Given the description of an element on the screen output the (x, y) to click on. 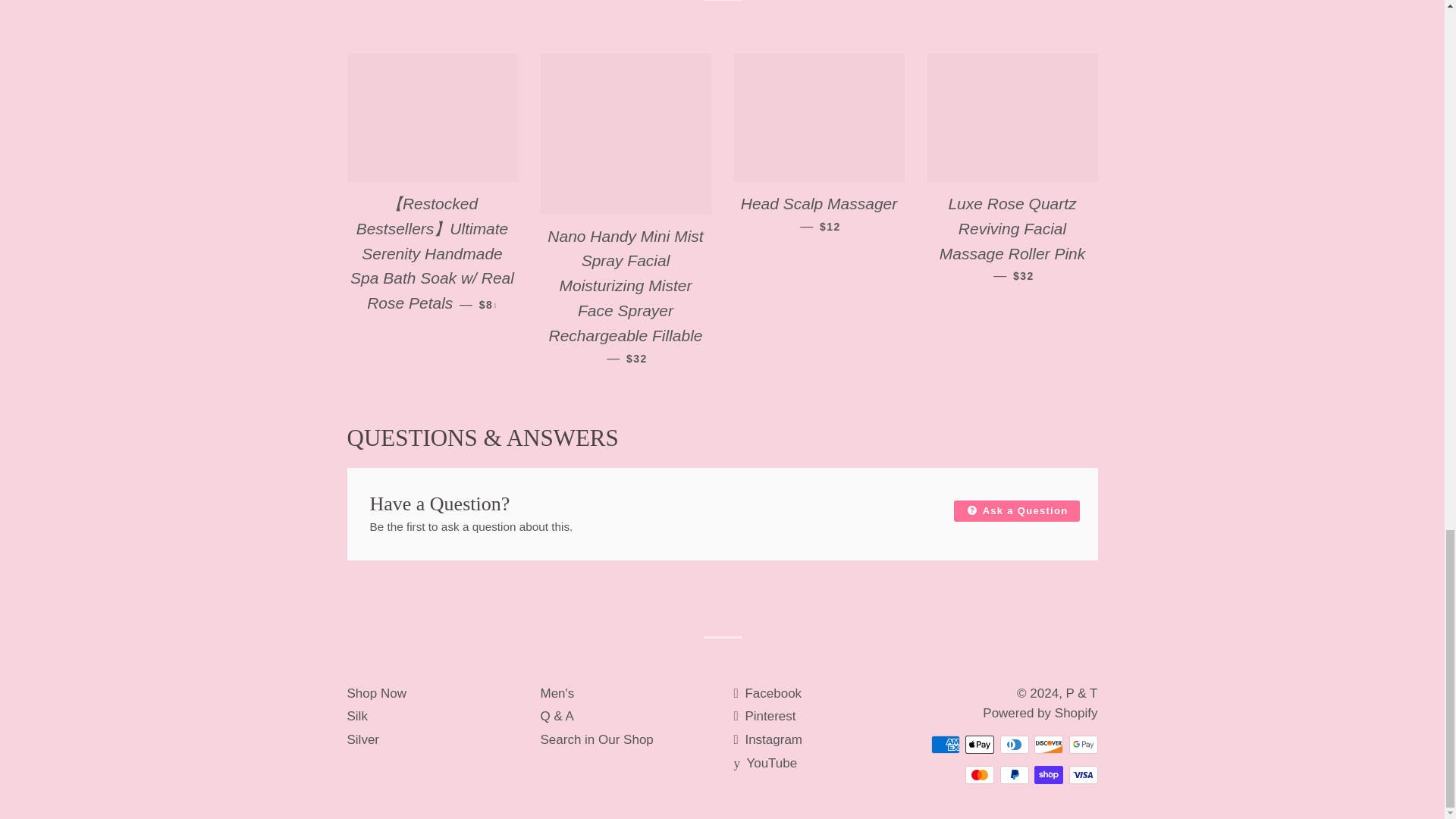
Diners Club (1012, 744)
Google Pay (1082, 744)
American Express (945, 744)
Apple Pay (979, 744)
PayPal (1012, 774)
Discover (1047, 744)
Visa (1082, 774)
Shop Pay (1047, 774)
Mastercard (979, 774)
